Given the description of an element on the screen output the (x, y) to click on. 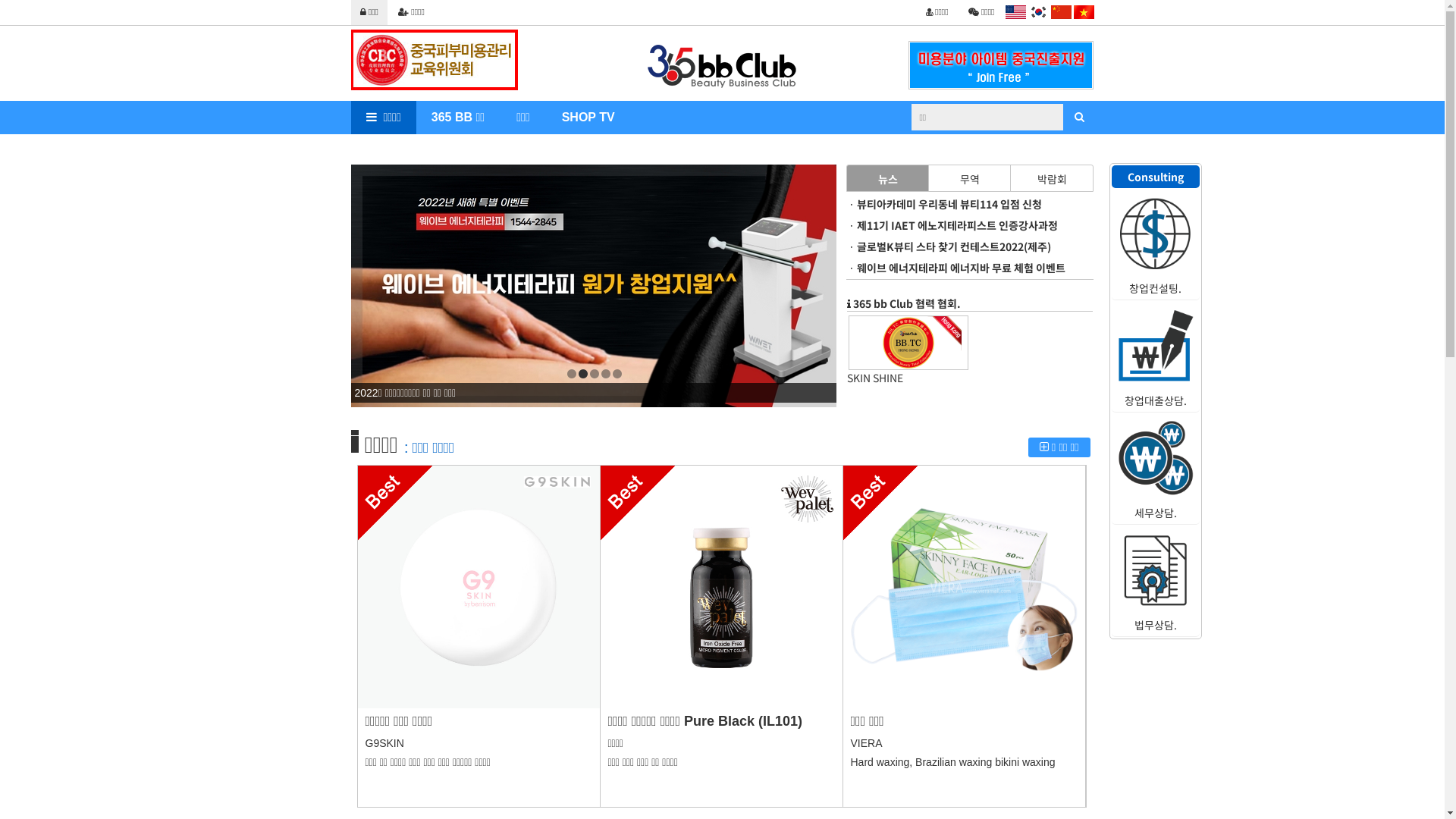
SKIN SHINE Element type: text (908, 377)
SHOP TV Element type: text (588, 117)
